Given the description of an element on the screen output the (x, y) to click on. 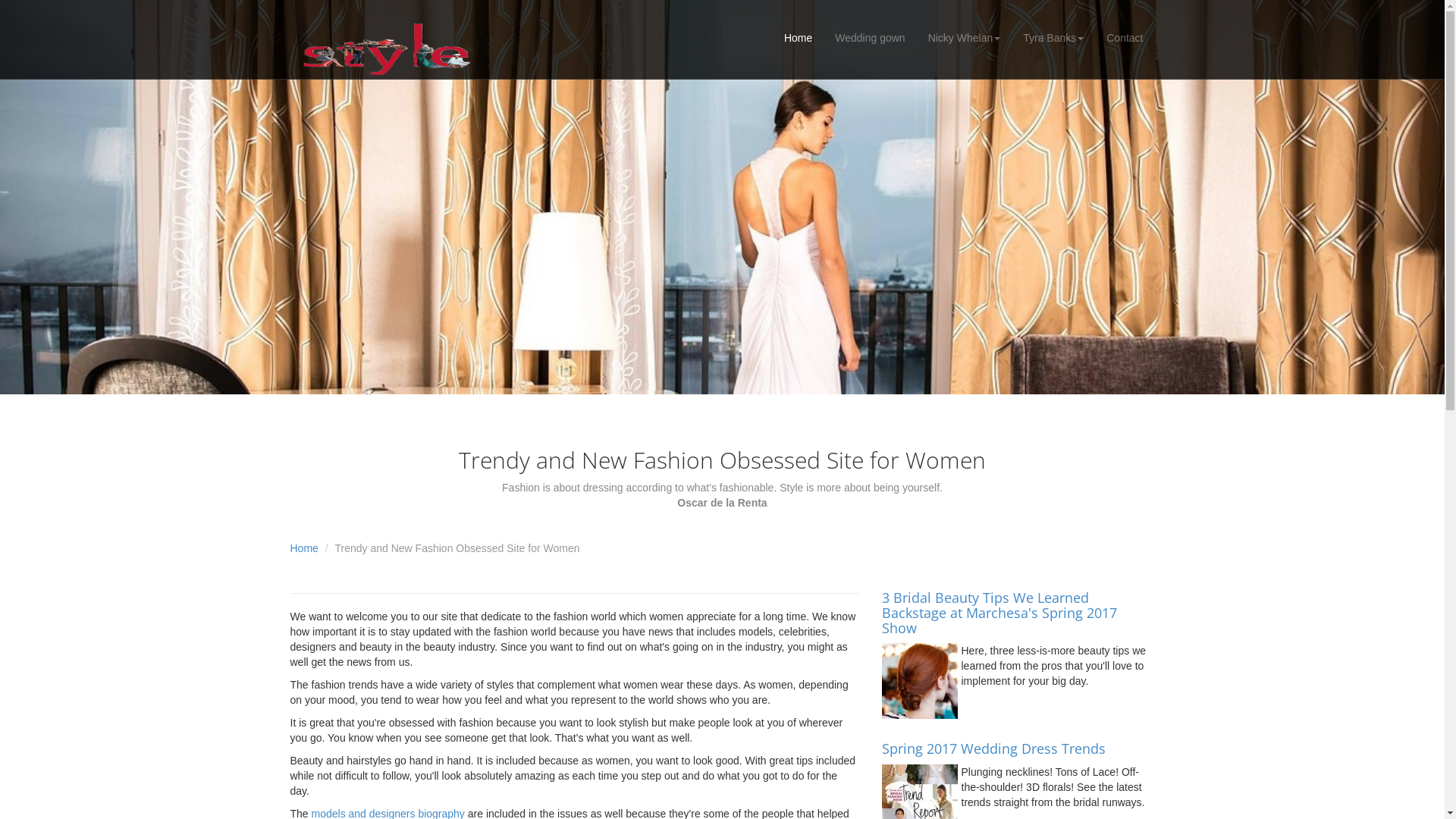
Spring 2017 Wedding Dress Trends Element type: text (992, 748)
Nicky Whelan Element type: text (964, 37)
Contact Element type: text (1124, 37)
Home Element type: text (303, 548)
Wedding gown Element type: text (869, 37)
Tyra Banks Element type: text (1053, 37)
Home Element type: text (797, 37)
